Given the description of an element on the screen output the (x, y) to click on. 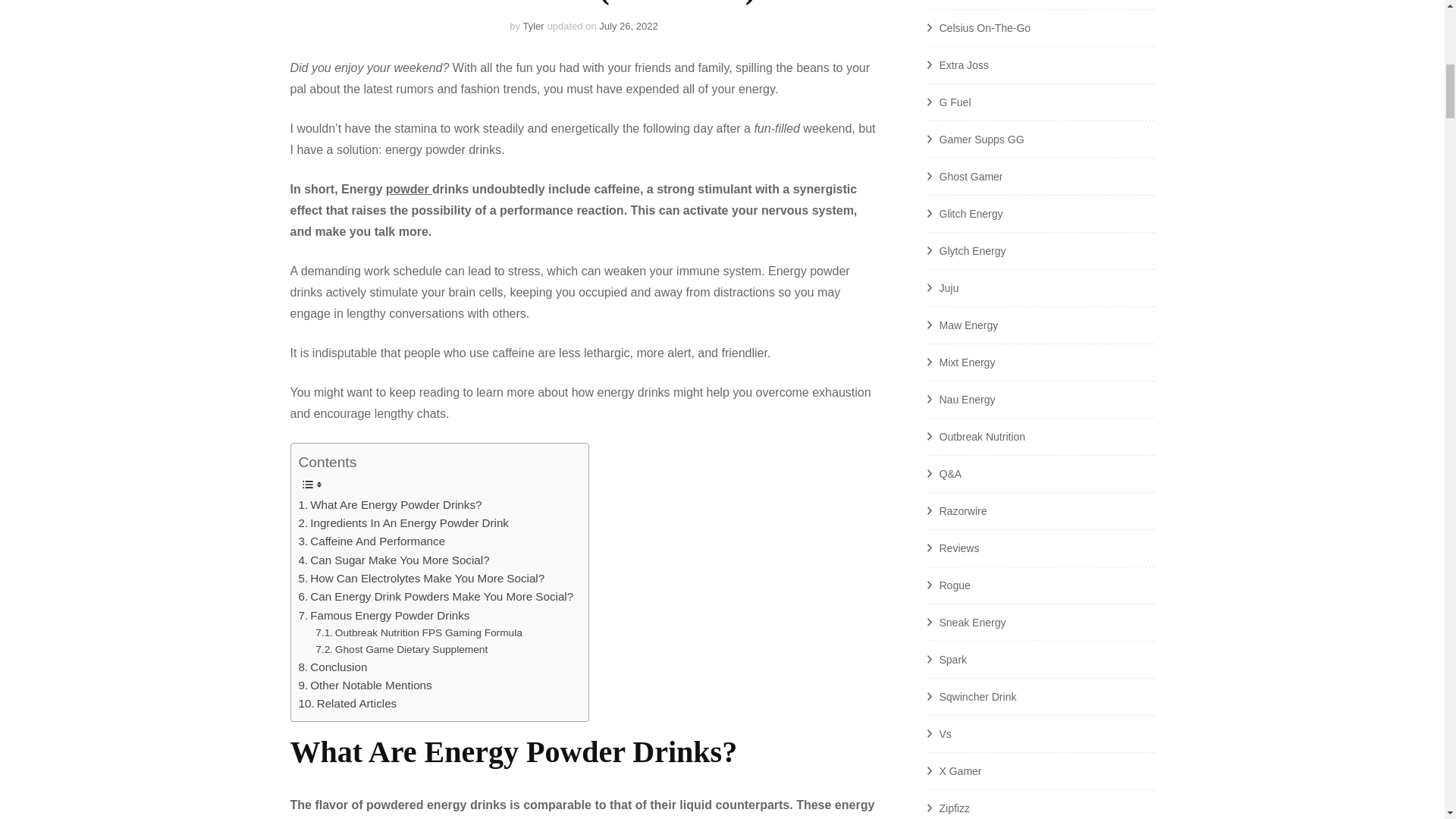
Can Sugar Make You More Social? (393, 560)
Famous Energy Powder Drinks (384, 615)
What Are Energy Powder Drinks? (389, 505)
Conclusion (333, 667)
Tyler (532, 25)
Caffeine And Performance  (371, 541)
July 26, 2022 (628, 25)
Related Articles (347, 703)
Can Energy Drink Powders Make You More Social?  (435, 597)
How Can Electrolytes Make You More Social? (421, 578)
Ghost Game Dietary Supplement (401, 649)
Other Notable Mentions (365, 685)
Outbreak Nutrition FPS Gaming Formula (418, 632)
What Are Energy Powder Drinks? (389, 505)
powder (408, 188)
